Given the description of an element on the screen output the (x, y) to click on. 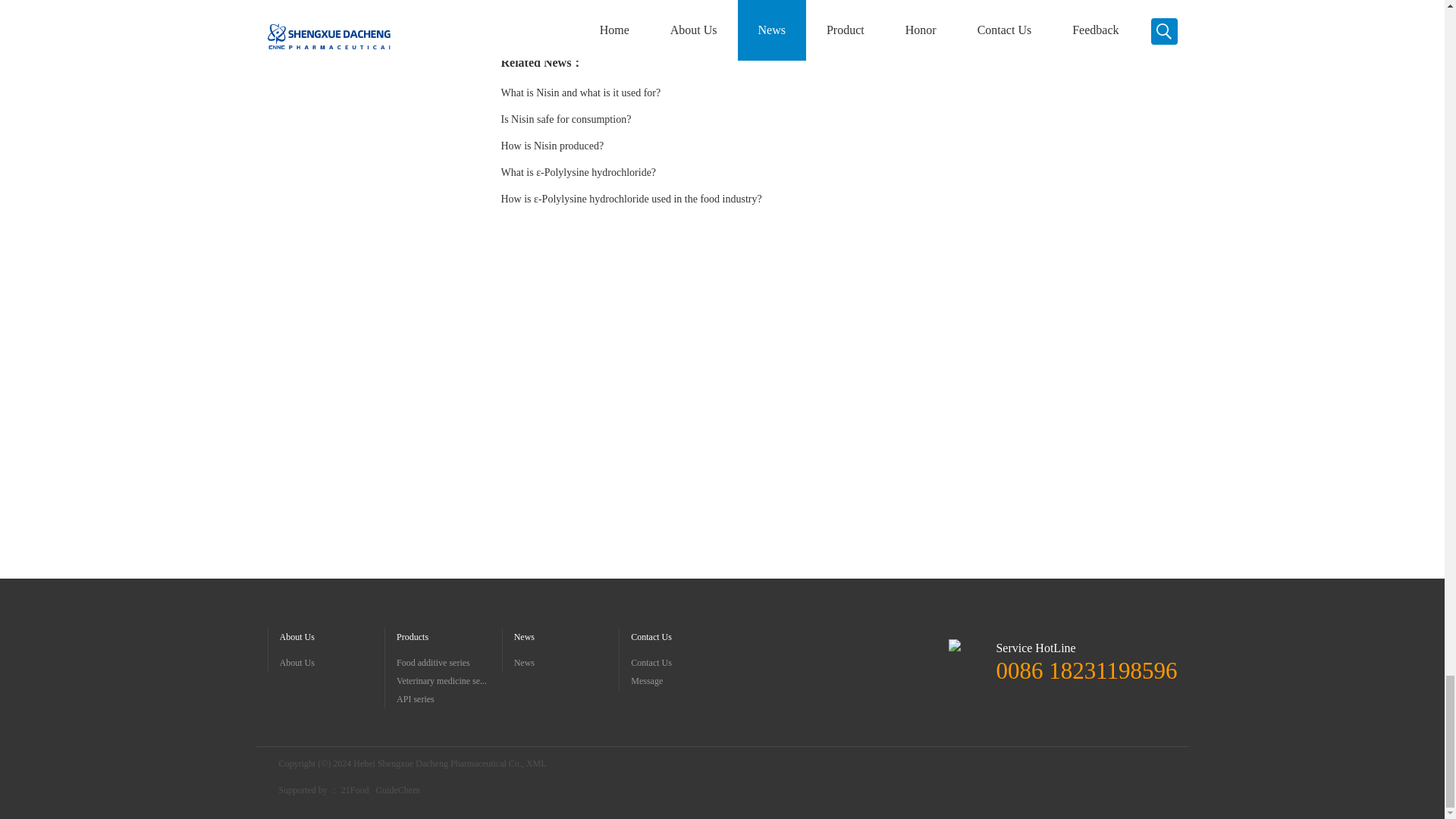
Message (683, 680)
What is Nisin and what is it used for? (580, 92)
News (566, 662)
Is Nisin safe for consumption? (565, 119)
Contact Us (683, 662)
How is Nisin produced? (552, 145)
About Us (331, 662)
The safety of nisin (565, 18)
